Given the description of an element on the screen output the (x, y) to click on. 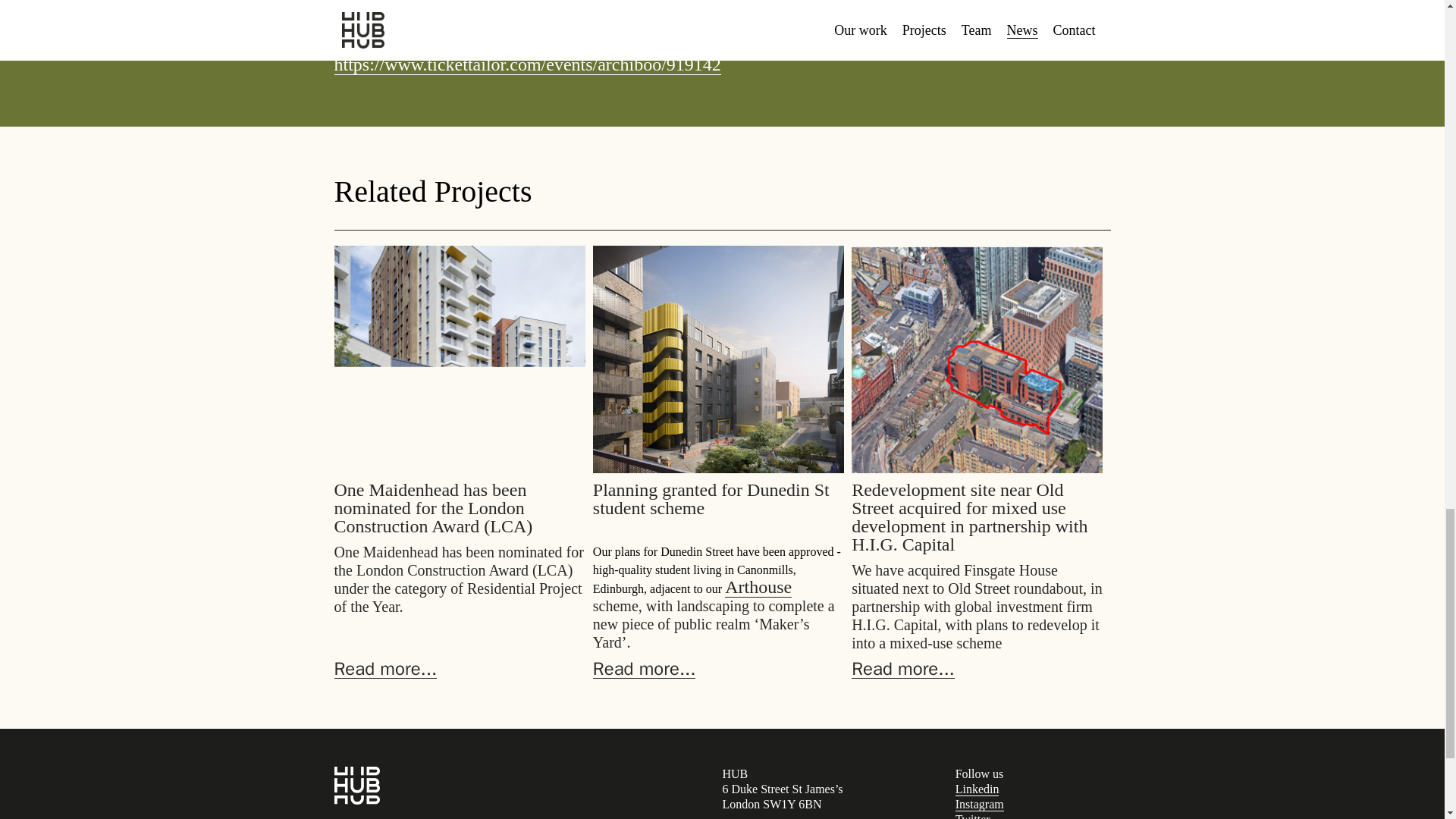
Read more... (903, 669)
Read more... (384, 669)
Arthouse (758, 587)
Linkedin (976, 789)
Read more... (643, 669)
Twitter (972, 816)
Instagram (979, 804)
